Given the description of an element on the screen output the (x, y) to click on. 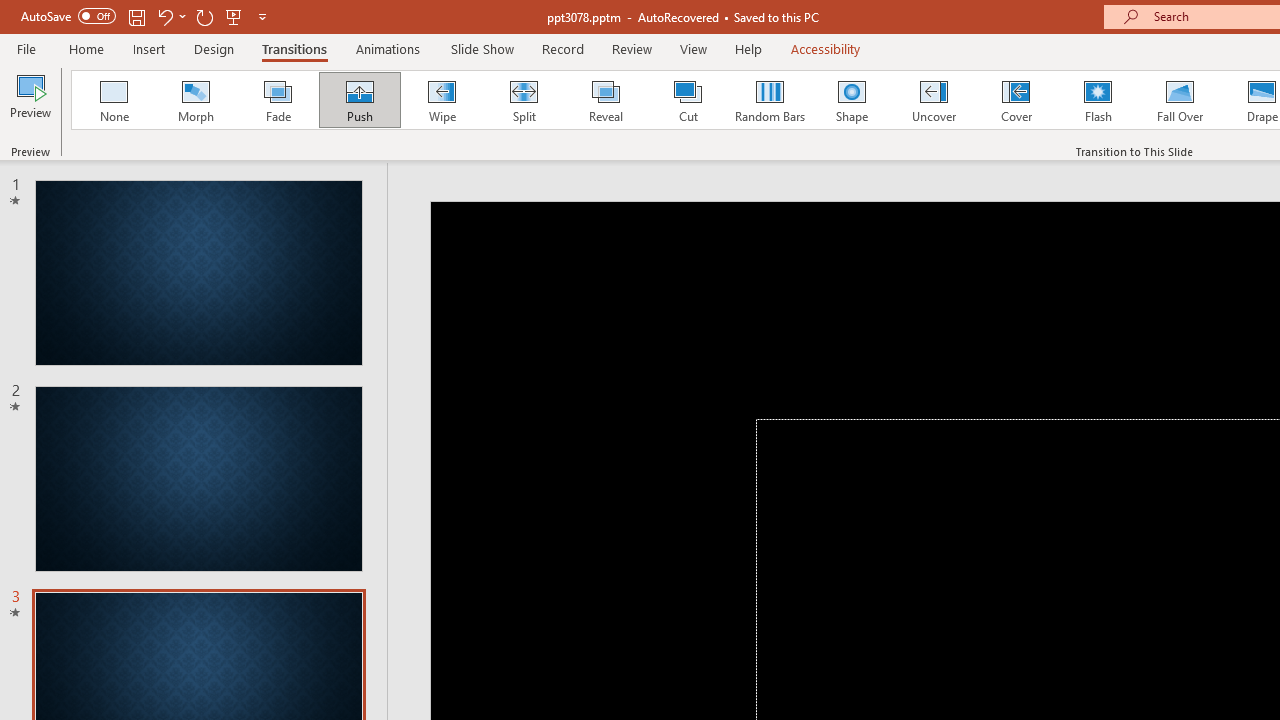
Morph (195, 100)
Random Bars (770, 100)
Reveal (605, 100)
None (113, 100)
Uncover (934, 100)
